Given the description of an element on the screen output the (x, y) to click on. 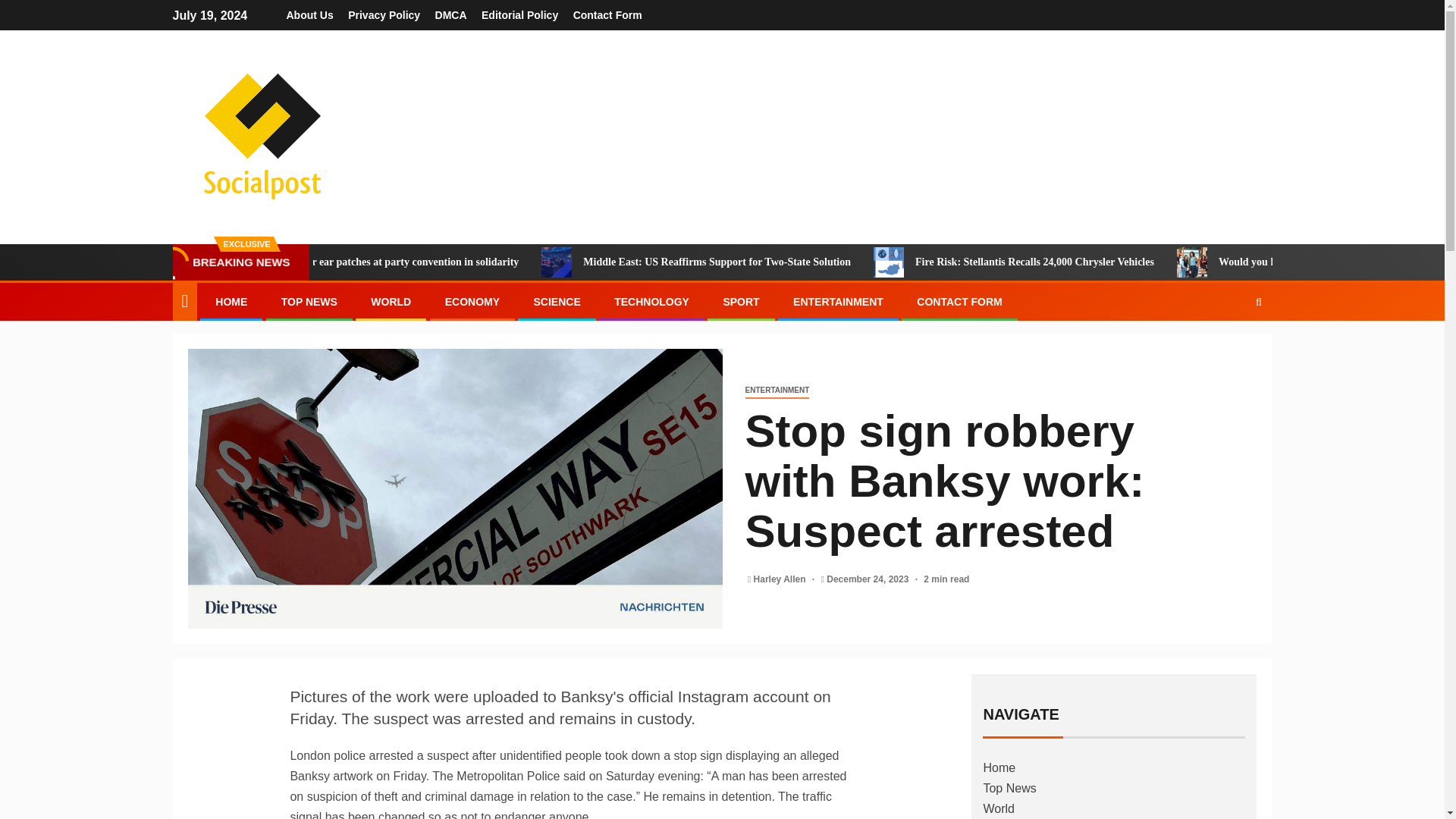
SCIENCE (555, 301)
ECONOMY (472, 301)
Editorial Policy (519, 15)
DMCA (451, 15)
TECHNOLOGY (651, 301)
HOME (231, 301)
CONTACT FORM (960, 301)
Search (1229, 347)
Privacy Policy (383, 15)
Harley Allen (781, 579)
About Us (309, 15)
Middle East: US Reaffirms Support for Two-State Solution (812, 262)
Fire Risk: Stellantis Recalls 24,000 Chrysler Vehicles (1128, 262)
TOP NEWS (309, 301)
ENTERTAINMENT (776, 390)
